Given the description of an element on the screen output the (x, y) to click on. 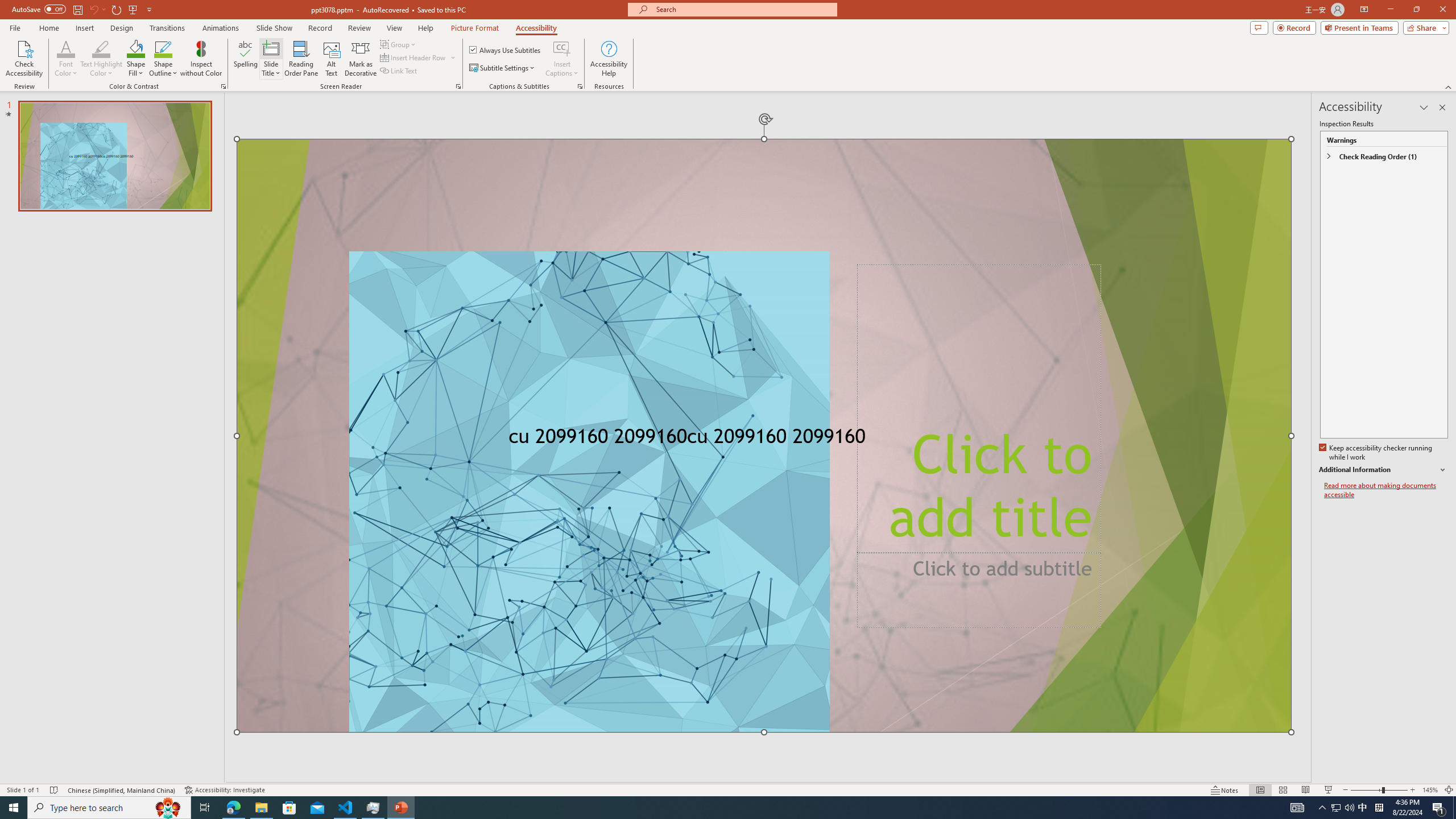
Mark as Decorative (360, 58)
Inspect without Color (201, 58)
